Given the description of an element on the screen output the (x, y) to click on. 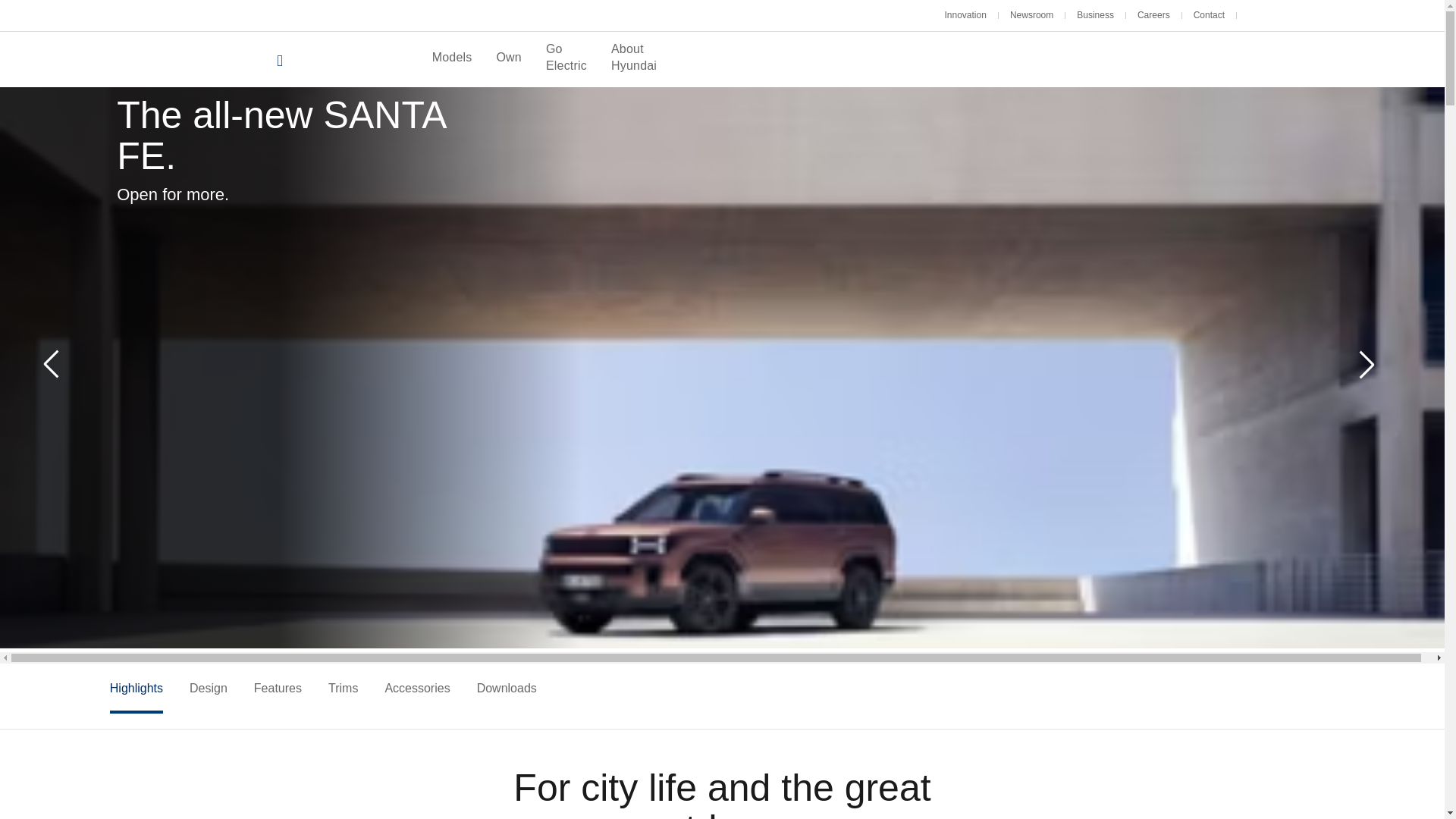
Business (1095, 15)
Newsroom (1031, 15)
Innovation (965, 15)
Contact (1208, 15)
Careers (1153, 15)
